Given the description of an element on the screen output the (x, y) to click on. 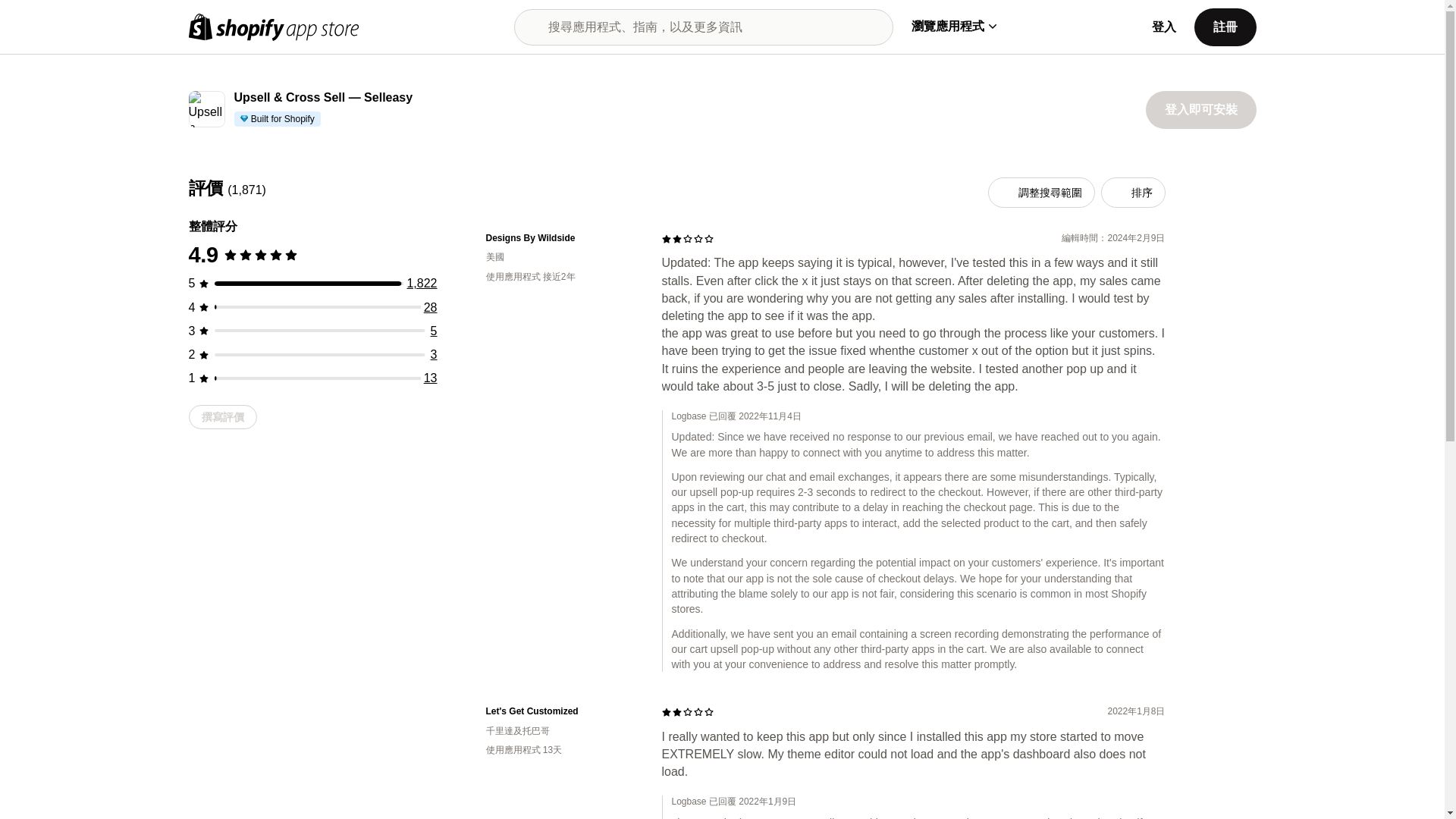
13 (430, 377)
Let's Get Customized (560, 711)
28 (430, 307)
Designs By Wildside  (560, 237)
1,822 (421, 282)
Built for Shopify (276, 117)
